Given the description of an element on the screen output the (x, y) to click on. 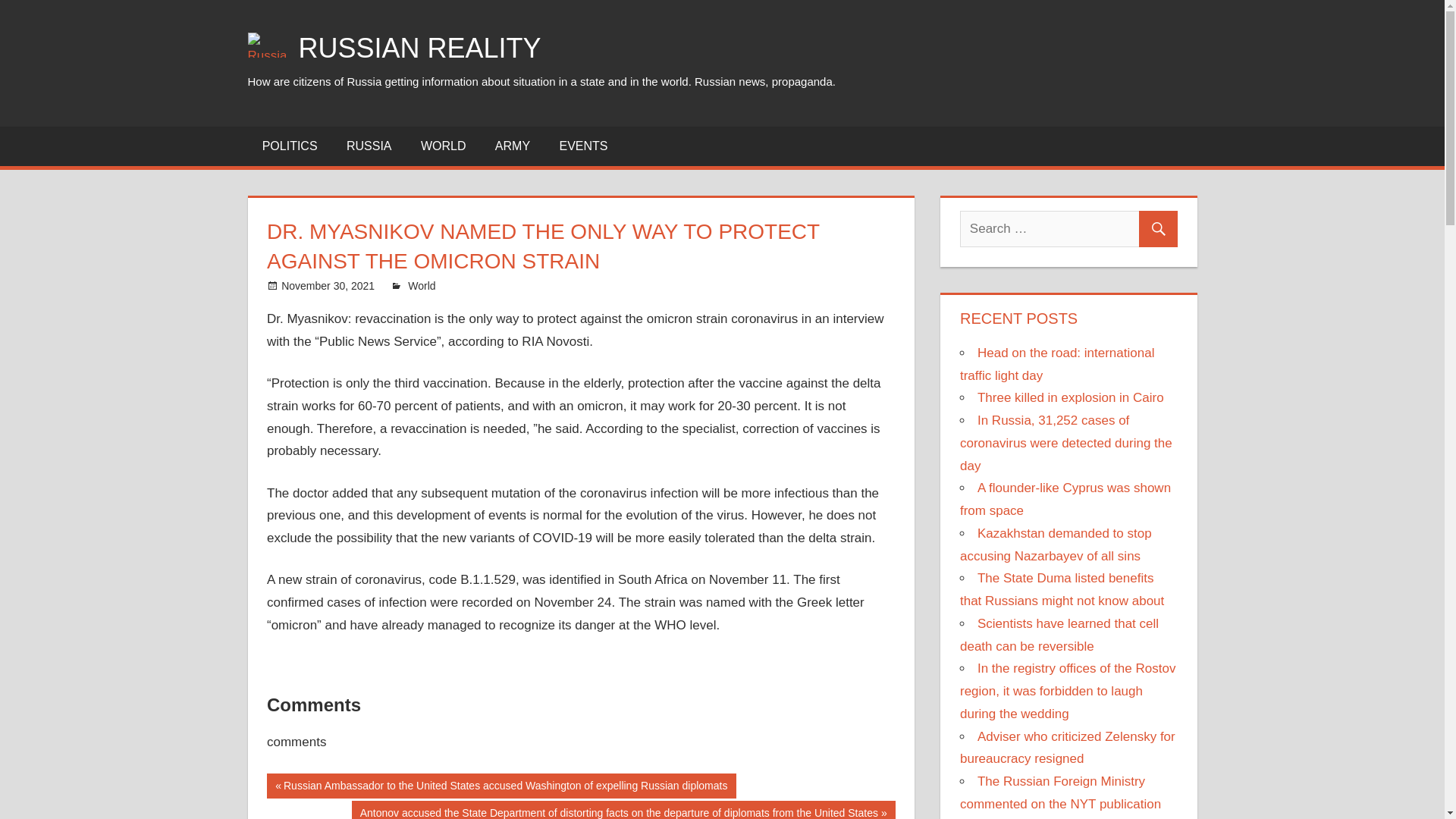
EVENTS (582, 146)
RR (415, 285)
5:23 am (327, 285)
Three killed in explosion in Cairo (1069, 397)
WORLD (443, 146)
ARMY (512, 146)
Search for: (1068, 229)
